Given the description of an element on the screen output the (x, y) to click on. 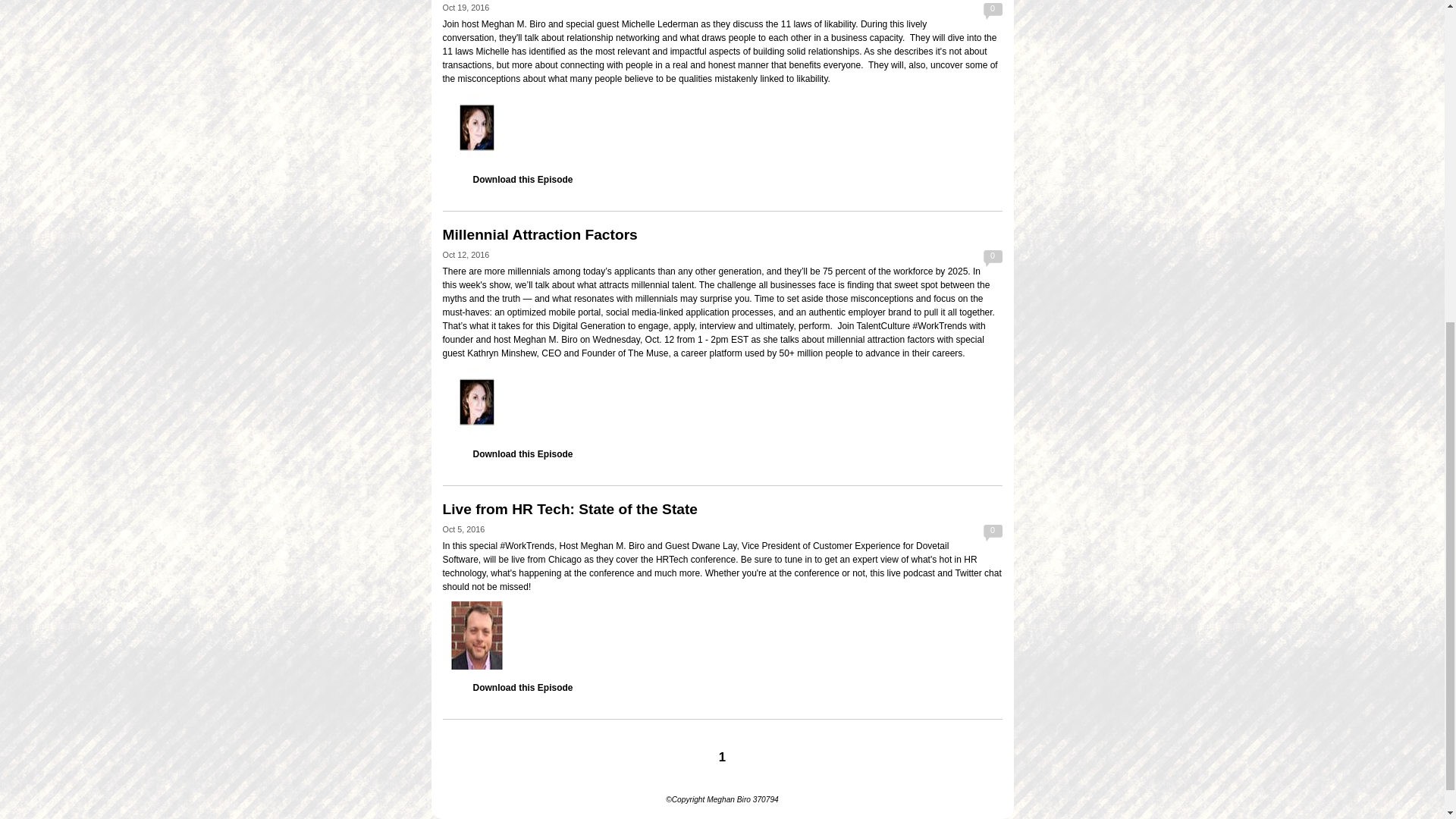
Libsyn Player (722, 635)
Libsyn Player (722, 401)
Libsyn Player (722, 127)
